Given the description of an element on the screen output the (x, y) to click on. 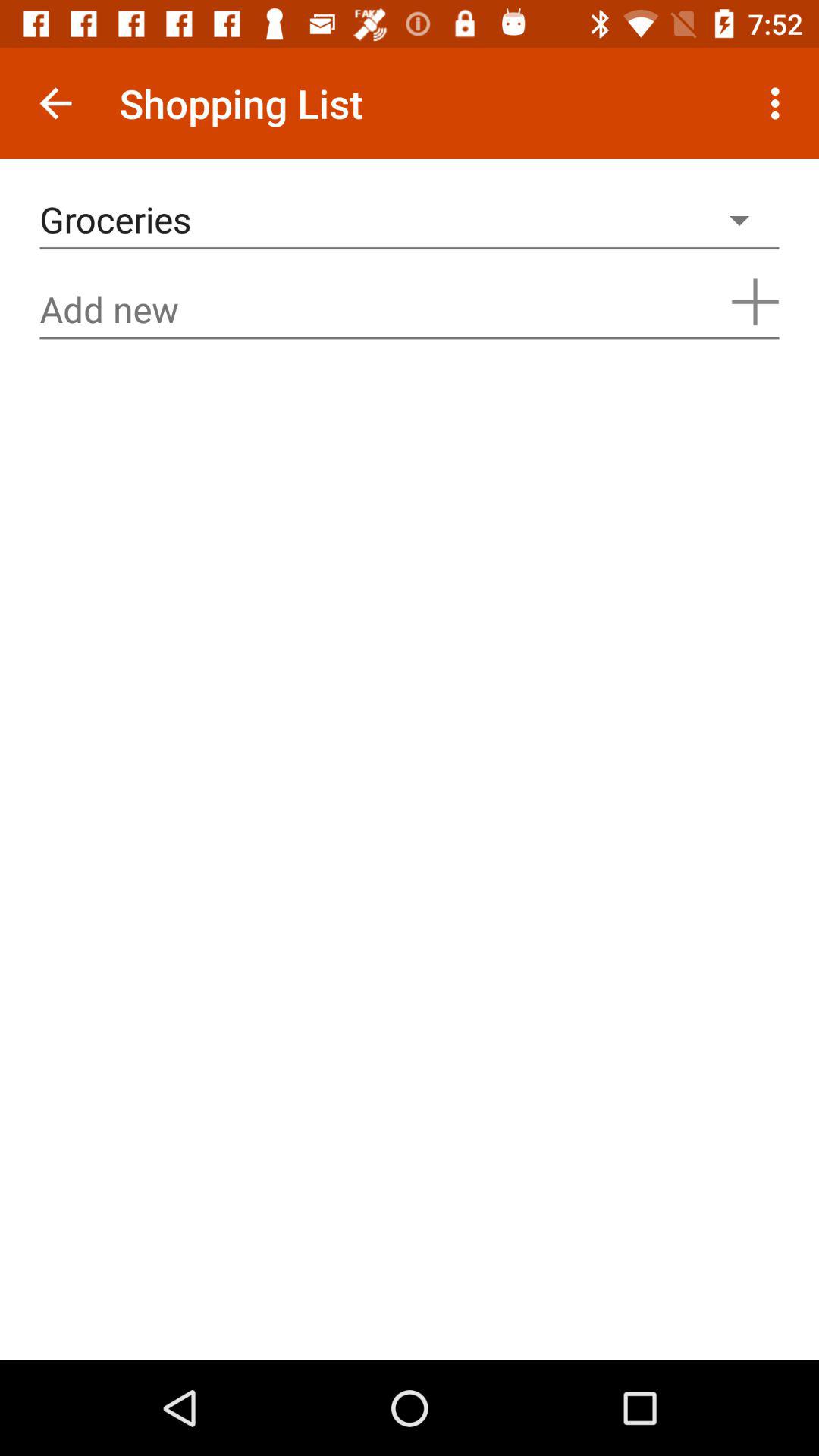
go to increase (755, 301)
